Given the description of an element on the screen output the (x, y) to click on. 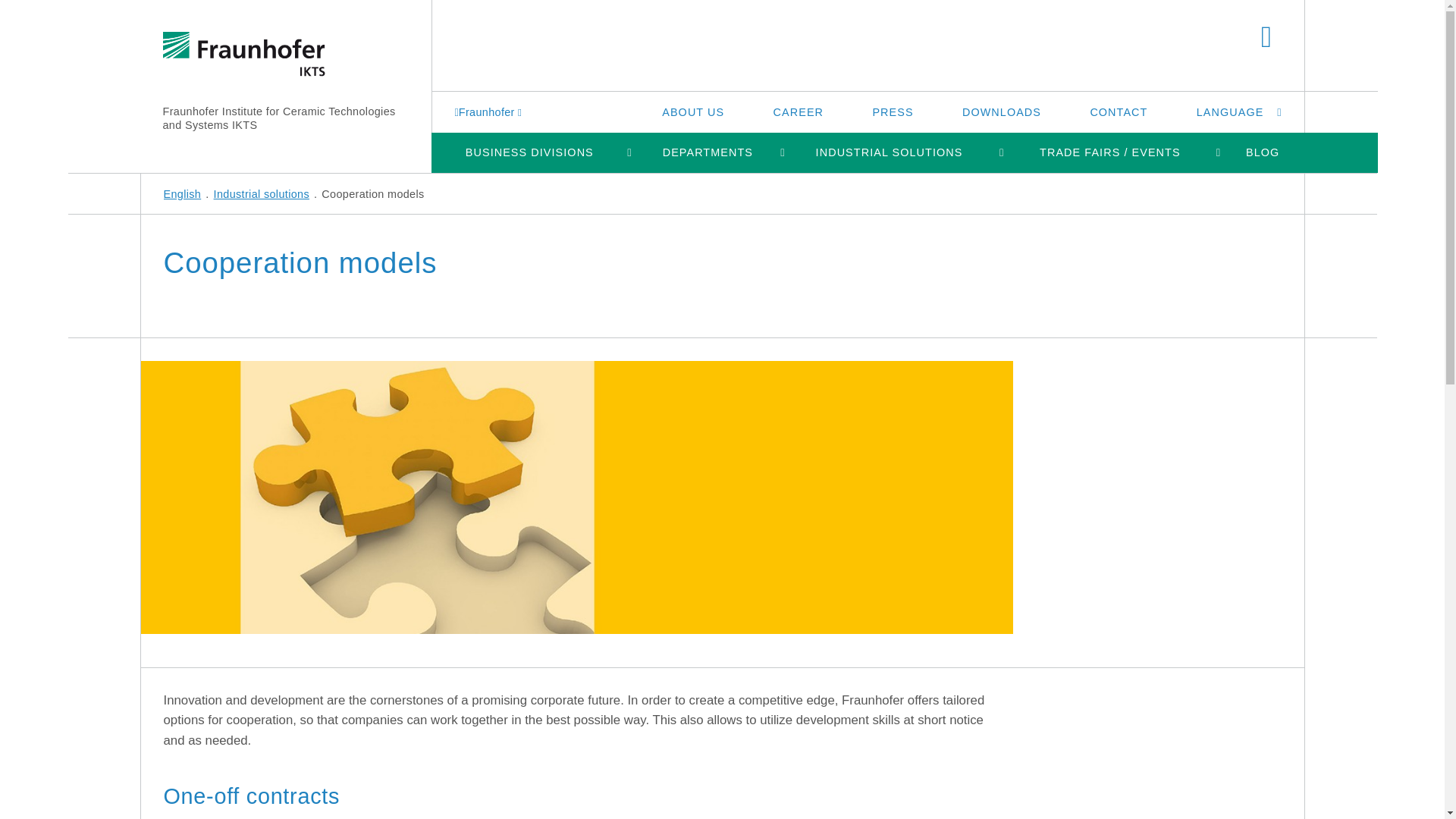
CONTACT (1118, 111)
Fraunhofer (489, 111)
SEARCH (1266, 37)
BUSINESS DIVISIONS (529, 151)
CAREER (798, 111)
ABOUT US (692, 111)
DEPARTMENTS (708, 151)
DOWNLOADS (1001, 111)
PRESS (892, 111)
